Given the description of an element on the screen output the (x, y) to click on. 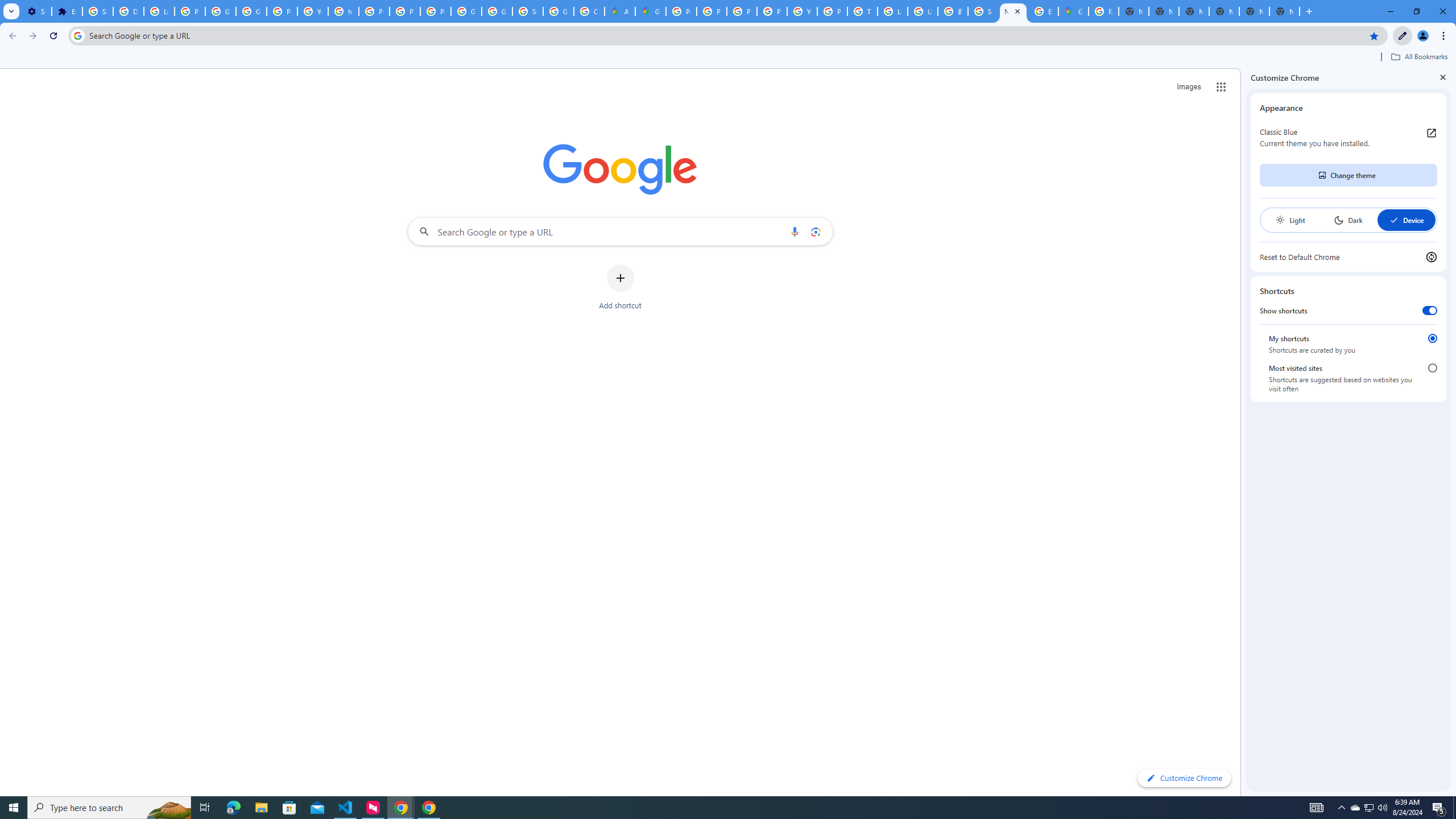
YouTube (801, 11)
Light (1289, 219)
Privacy Help Center - Policies Help (741, 11)
Most visited sites (1432, 367)
New Tab (1012, 11)
Tips & tricks for Chrome - Google Chrome Help (862, 11)
